Given the description of an element on the screen output the (x, y) to click on. 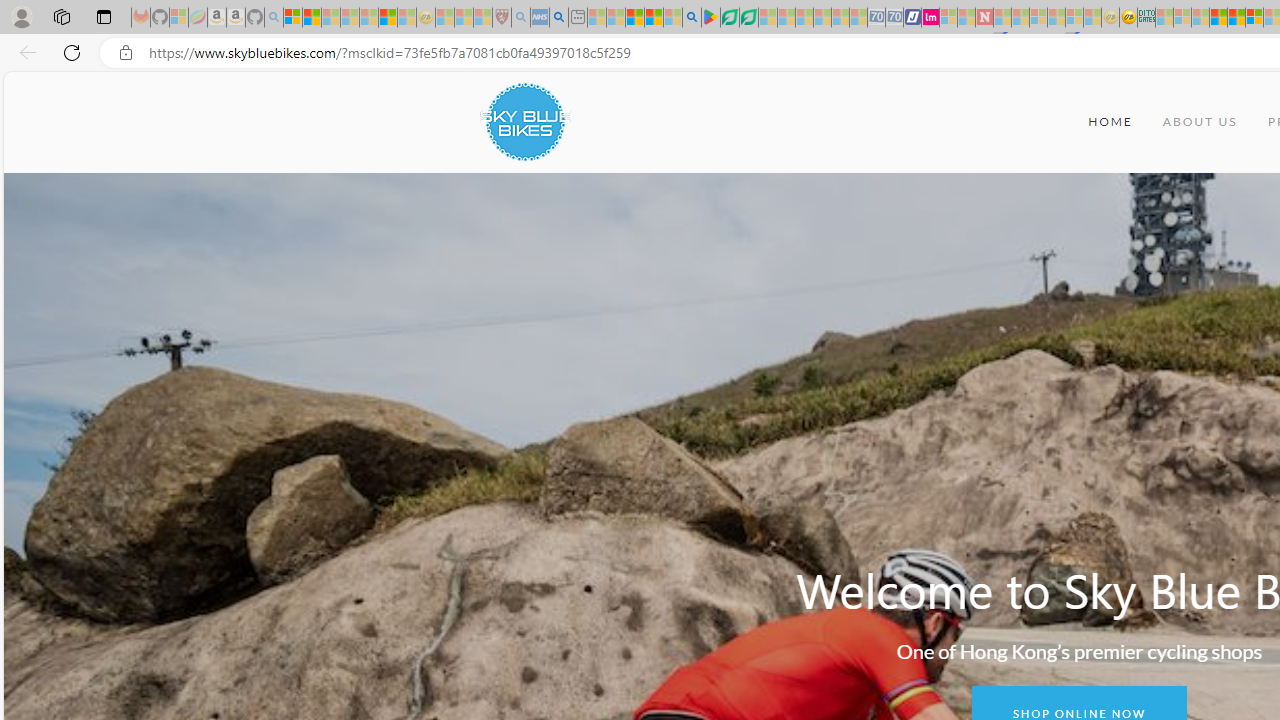
DITOGAMES AG Imprint (1145, 17)
Microsoft account | Privacy - Sleeping (1182, 17)
google - Search (692, 17)
Expert Portfolios (1218, 17)
HOME (1110, 122)
